Given the description of an element on the screen output the (x, y) to click on. 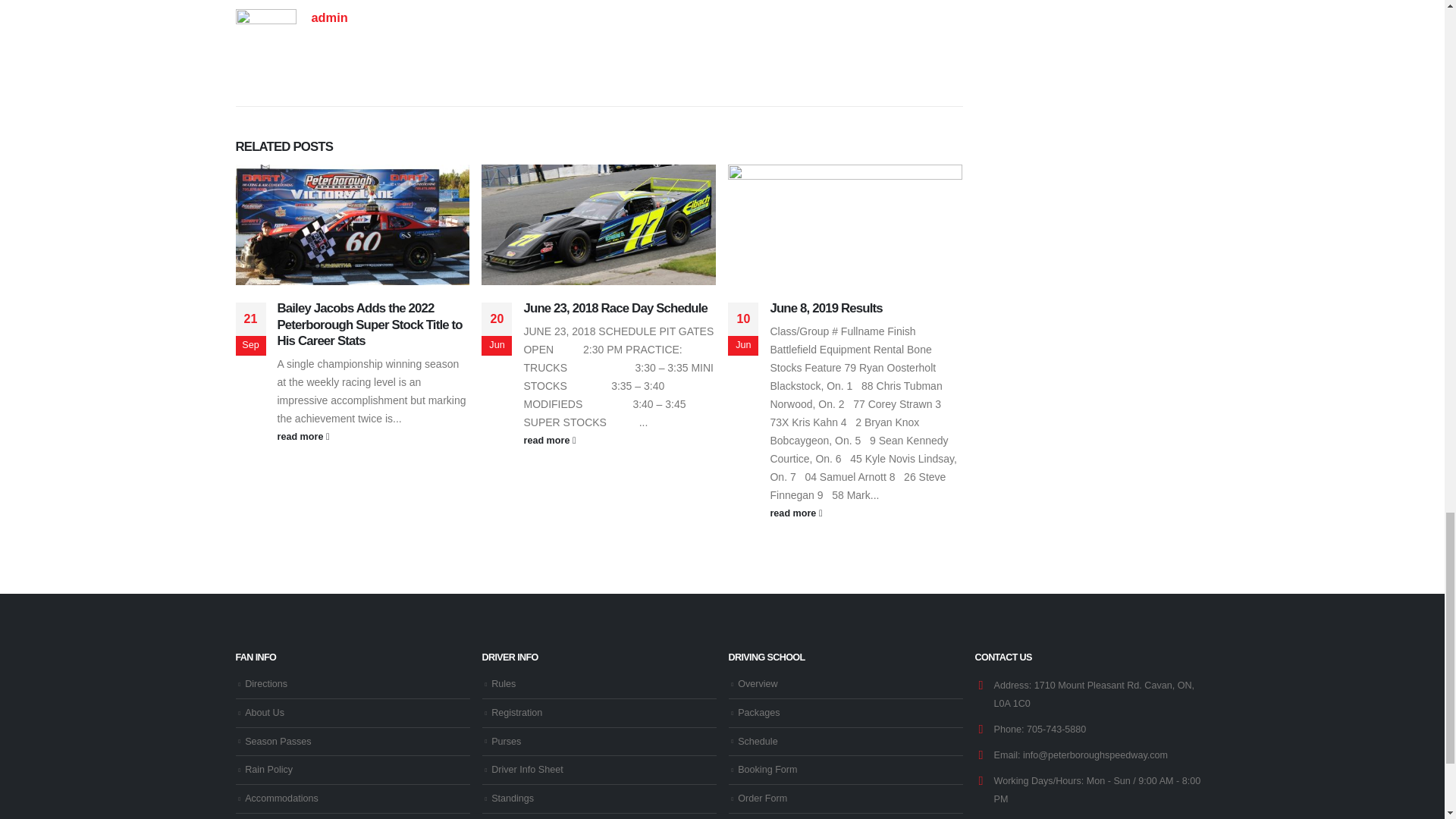
Posts by admin (329, 17)
